Given the description of an element on the screen output the (x, y) to click on. 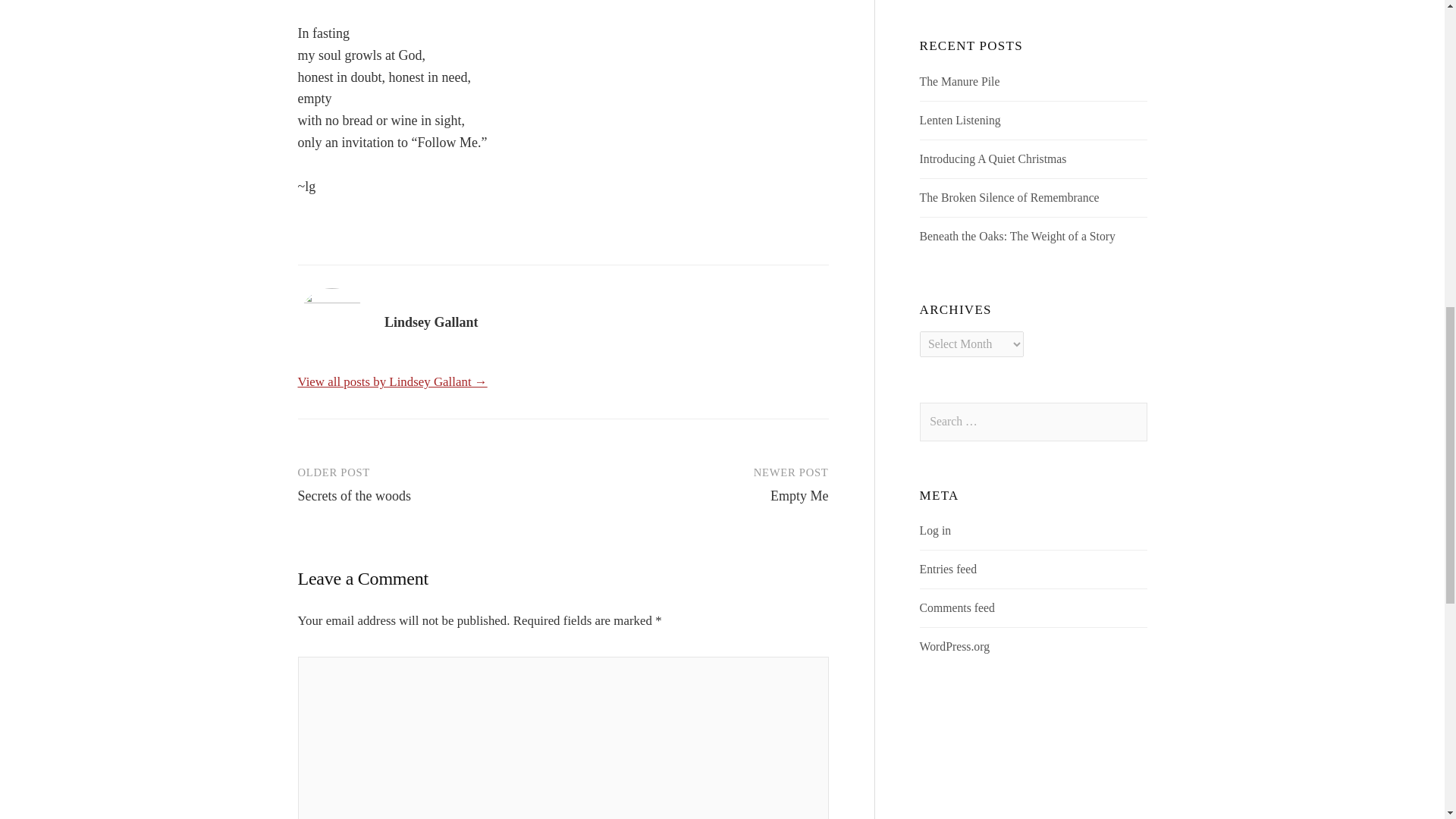
Log in (936, 530)
Comments feed (957, 607)
Secrets of the woods (353, 495)
WordPress.org (955, 645)
The Broken Silence of Remembrance (1009, 196)
Introducing A Quiet Christmas (993, 158)
Lenten Listening (960, 119)
The Manure Pile (960, 81)
Empty Me (799, 495)
Entries feed (948, 568)
Beneath the Oaks: The Weight of a Story (1017, 236)
